Given the description of an element on the screen output the (x, y) to click on. 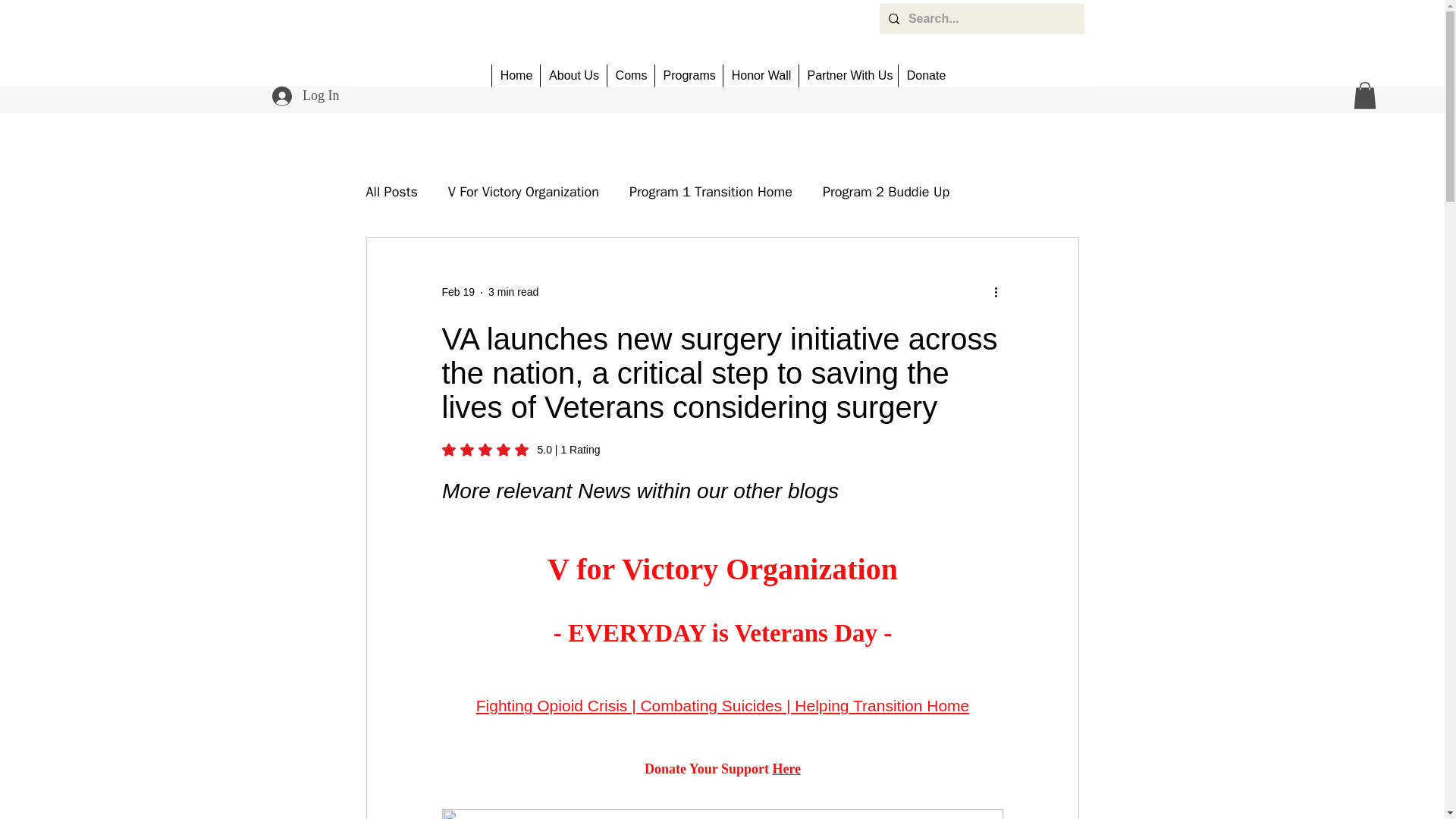
Donate (925, 75)
Here (785, 768)
Home (516, 75)
Partner With Us (847, 75)
Coms (630, 75)
V For Victory Organization (523, 191)
Program 2 Buddie Up (885, 191)
Log In (306, 96)
All Posts (390, 191)
Feb 19 (457, 291)
About Us (573, 75)
3 min read (512, 291)
Programs (687, 75)
Honor Wall (759, 75)
Program 1 Transition Home (710, 191)
